Given the description of an element on the screen output the (x, y) to click on. 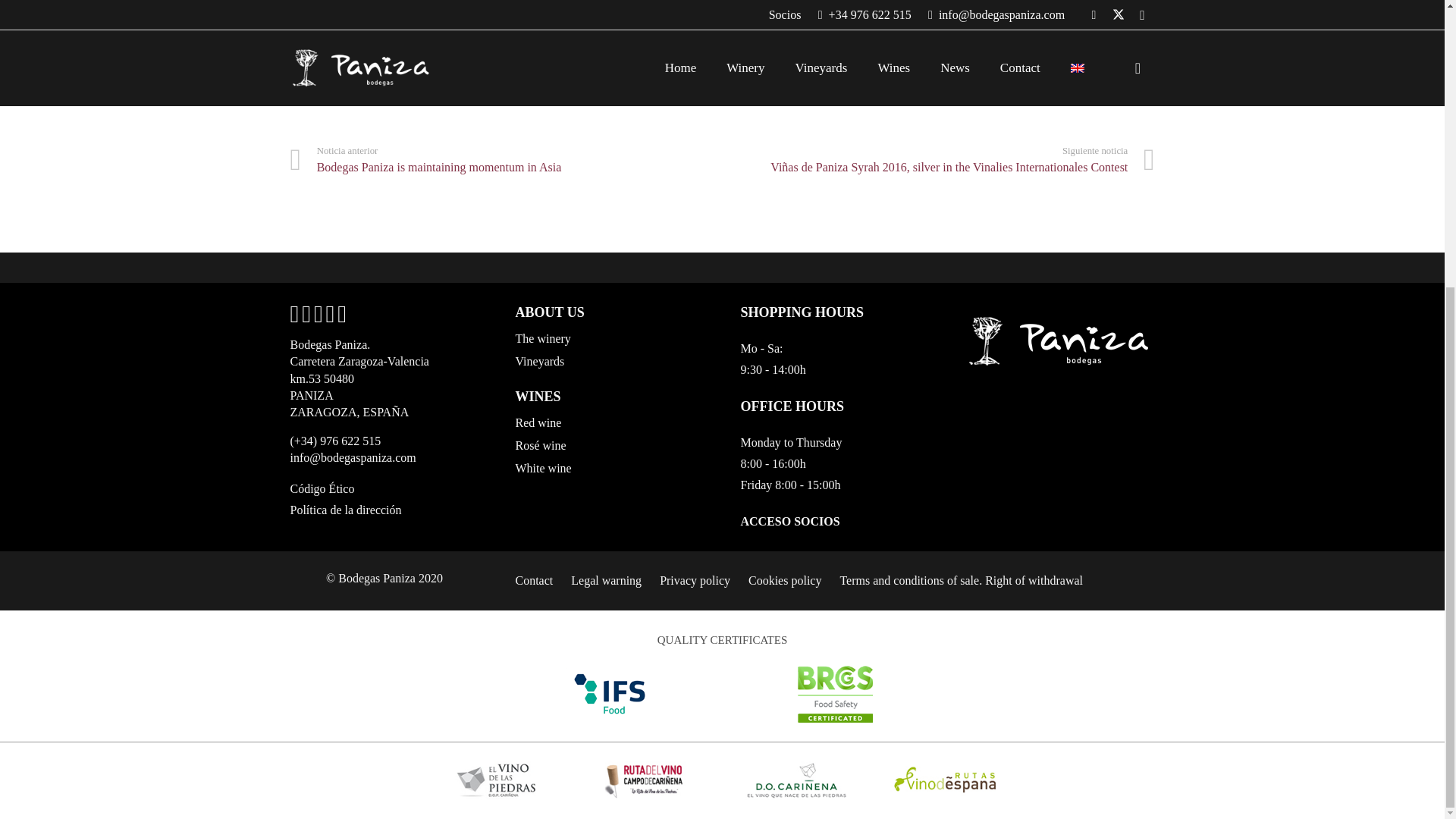
Bodegas Paniza is maintaining momentum in Asia (505, 160)
